Given the description of an element on the screen output the (x, y) to click on. 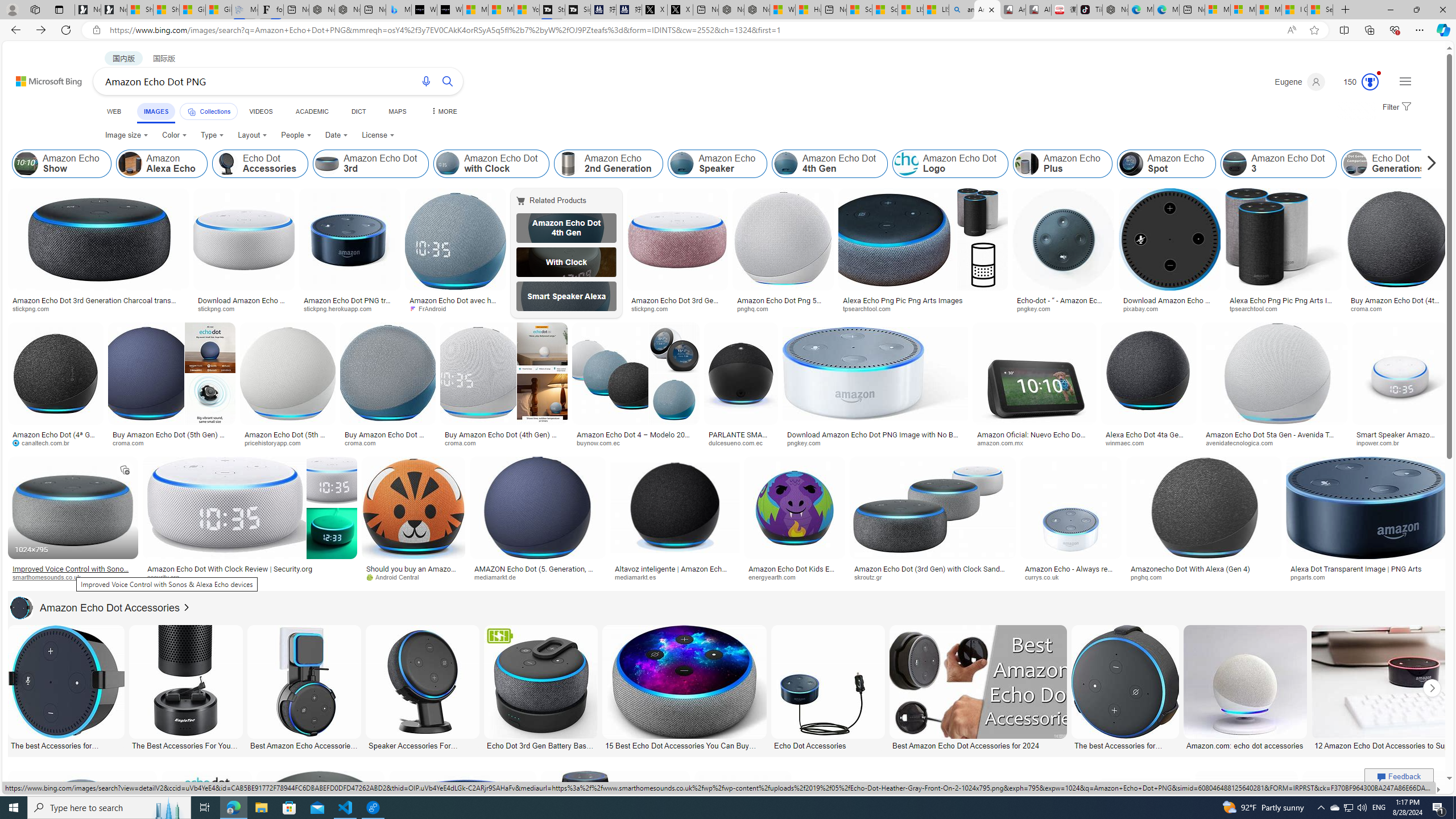
Filter (1395, 107)
Android Central (396, 576)
pngkey.com (807, 442)
Alexa Echo Png Pic Png Arts Images (1282, 303)
pricehistoryapp.com (276, 442)
Amazon Alexa Echo (161, 163)
Class: outer-circle-animation (1369, 81)
Layout (252, 135)
